Given the description of an element on the screen output the (x, y) to click on. 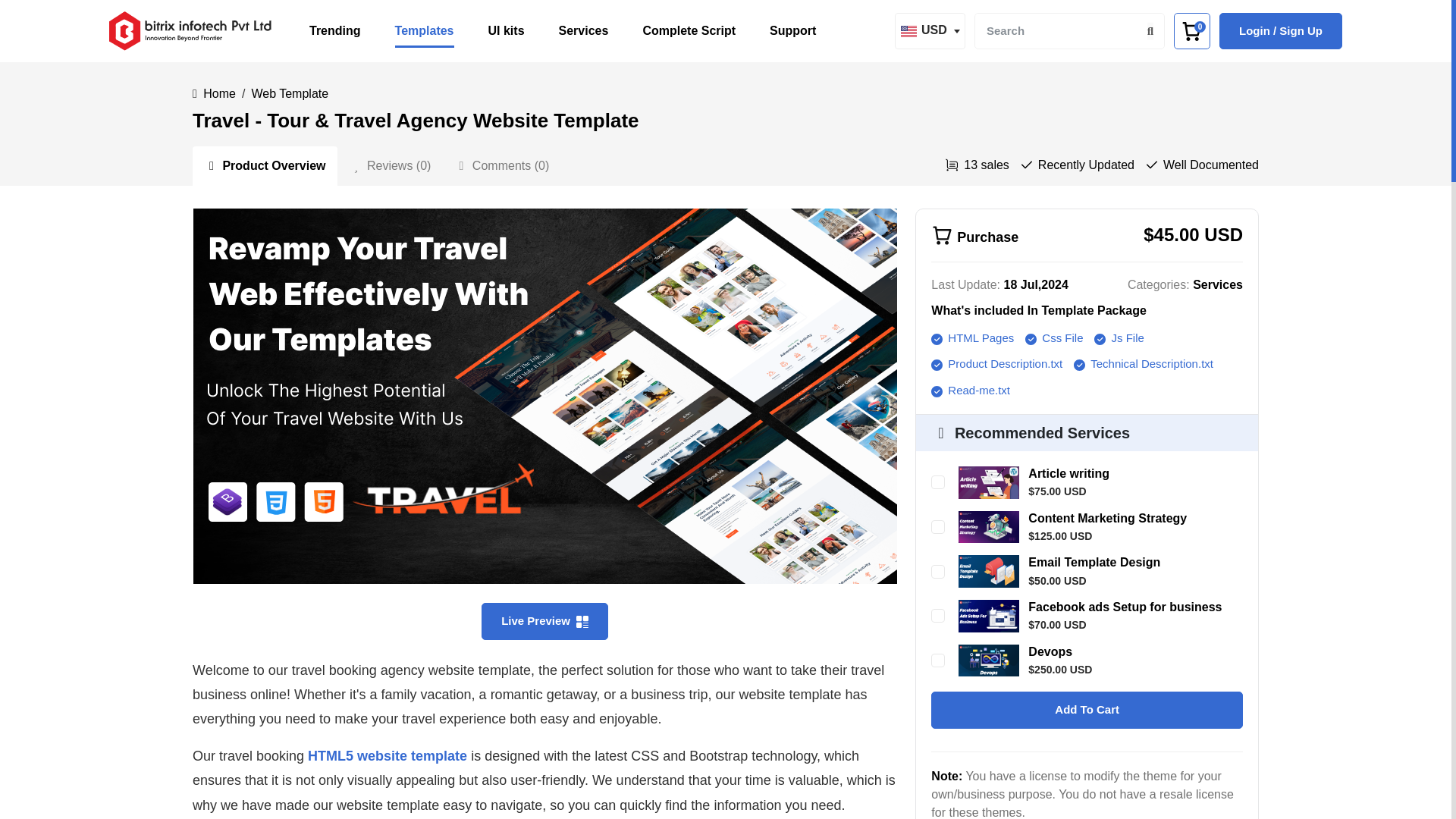
Services (583, 31)
Templates (424, 31)
Article writing (1068, 472)
on (937, 615)
USD - US Dollar (927, 31)
UI kits (505, 31)
Trending (334, 31)
on (937, 571)
Web Template (289, 92)
0 (1191, 31)
Home (219, 92)
on (937, 481)
Support (792, 31)
Complete Script (688, 31)
Live Preview (544, 620)
